Given the description of an element on the screen output the (x, y) to click on. 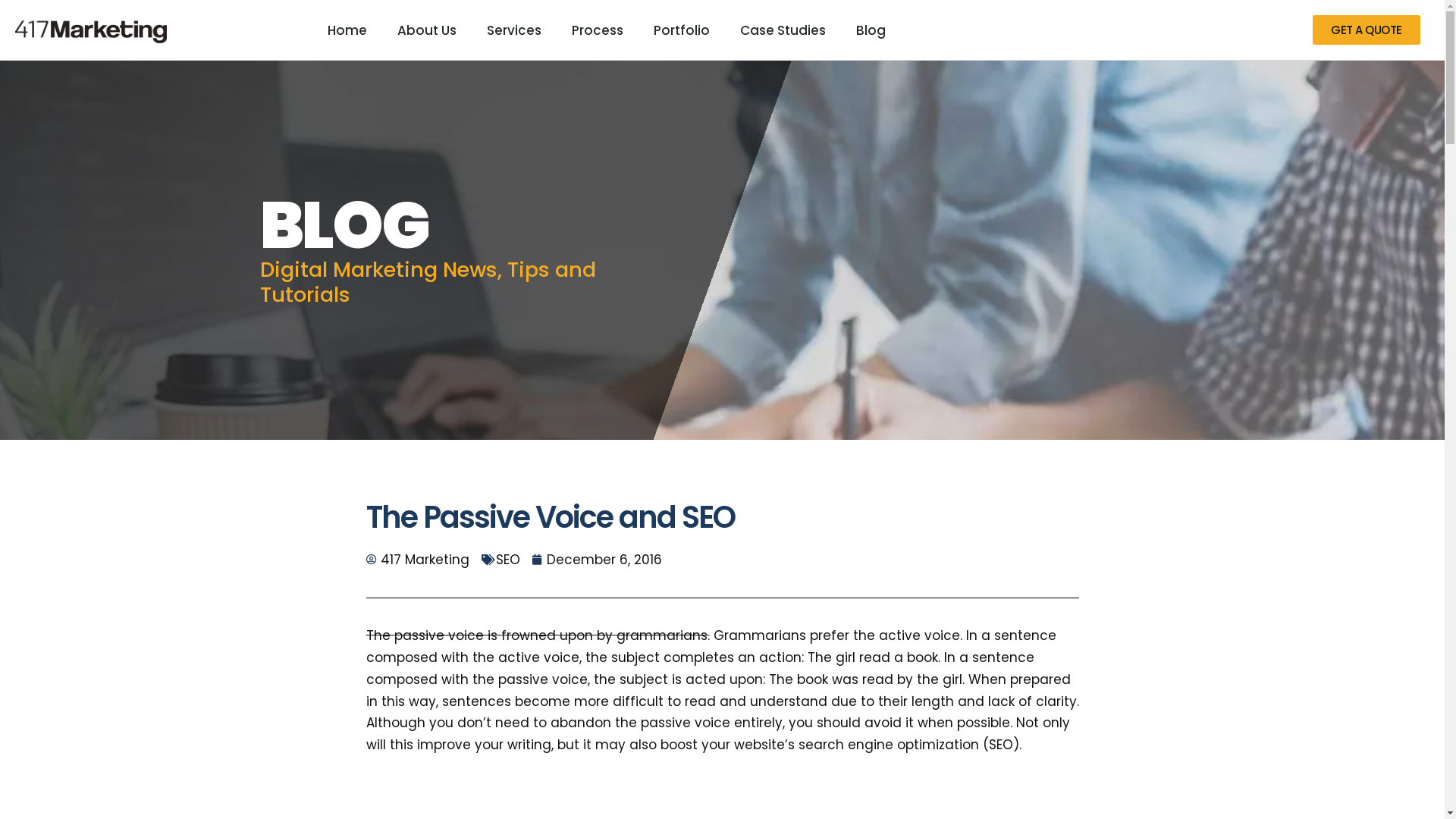
Blog Element type: text (870, 29)
GET A QUOTE Element type: text (1366, 29)
Home Element type: text (347, 29)
About Us Element type: text (426, 29)
Services Element type: text (513, 29)
Case Studies Element type: text (782, 29)
December 6, 2016 Element type: text (597, 560)
Portfolio Element type: text (681, 29)
Process Element type: text (597, 29)
